Given the description of an element on the screen output the (x, y) to click on. 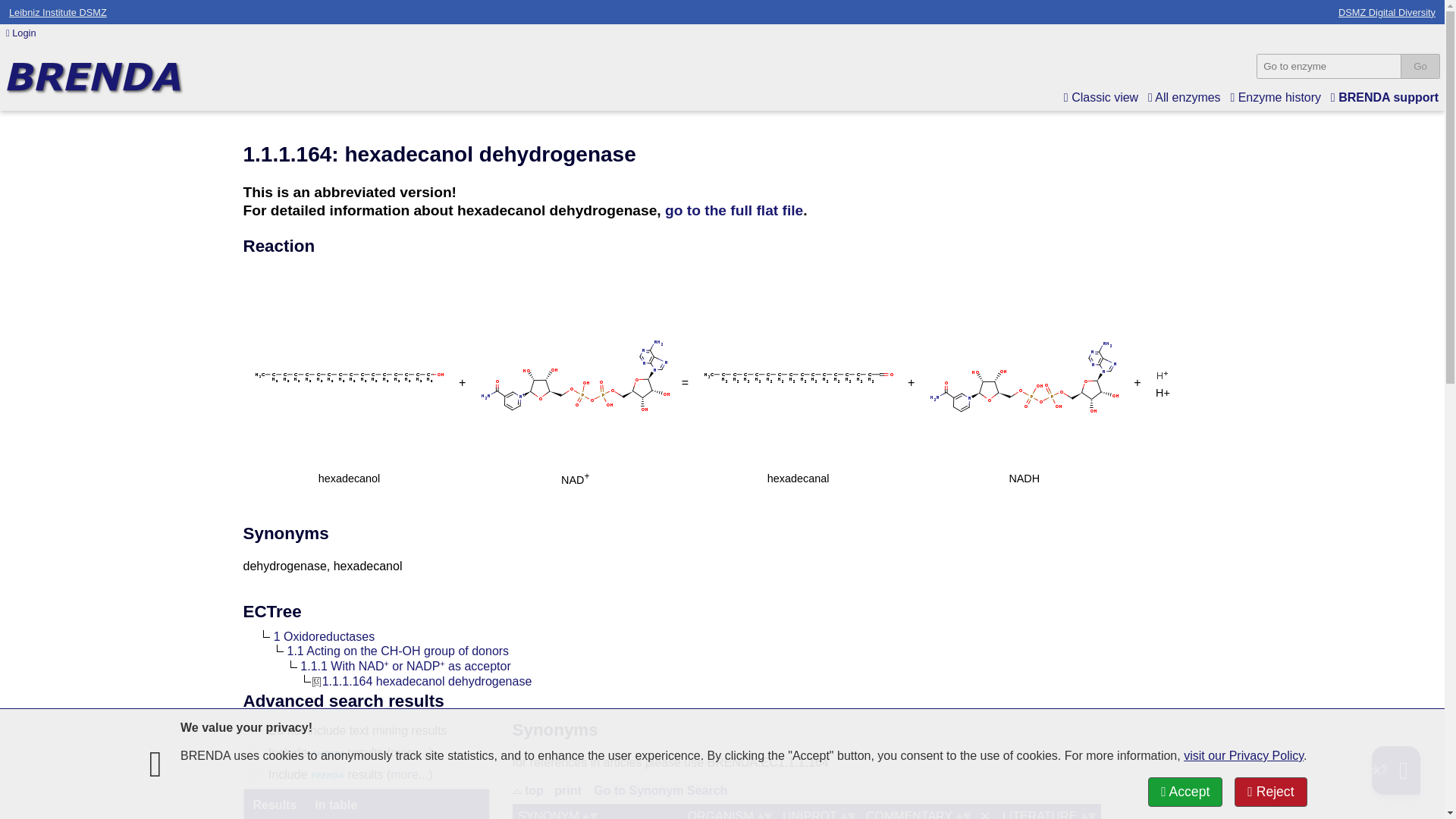
hexadecanol (349, 427)
Leibniz Institute DSMZ (57, 11)
DSMZ Digital Diversity (1386, 11)
more... (409, 774)
more... (409, 752)
2 (253, 773)
1 (253, 751)
1.1 Acting on the CH-OH group of donors (395, 650)
hide commentaries (984, 816)
All enzymes (1184, 97)
0 (253, 729)
Show enzyme 1.1.1.164 (421, 680)
1 Oxidoreductases (321, 635)
1.1.1.164 hexadecanol dehydrogenase (421, 680)
Search for 1 (321, 635)
